Given the description of an element on the screen output the (x, y) to click on. 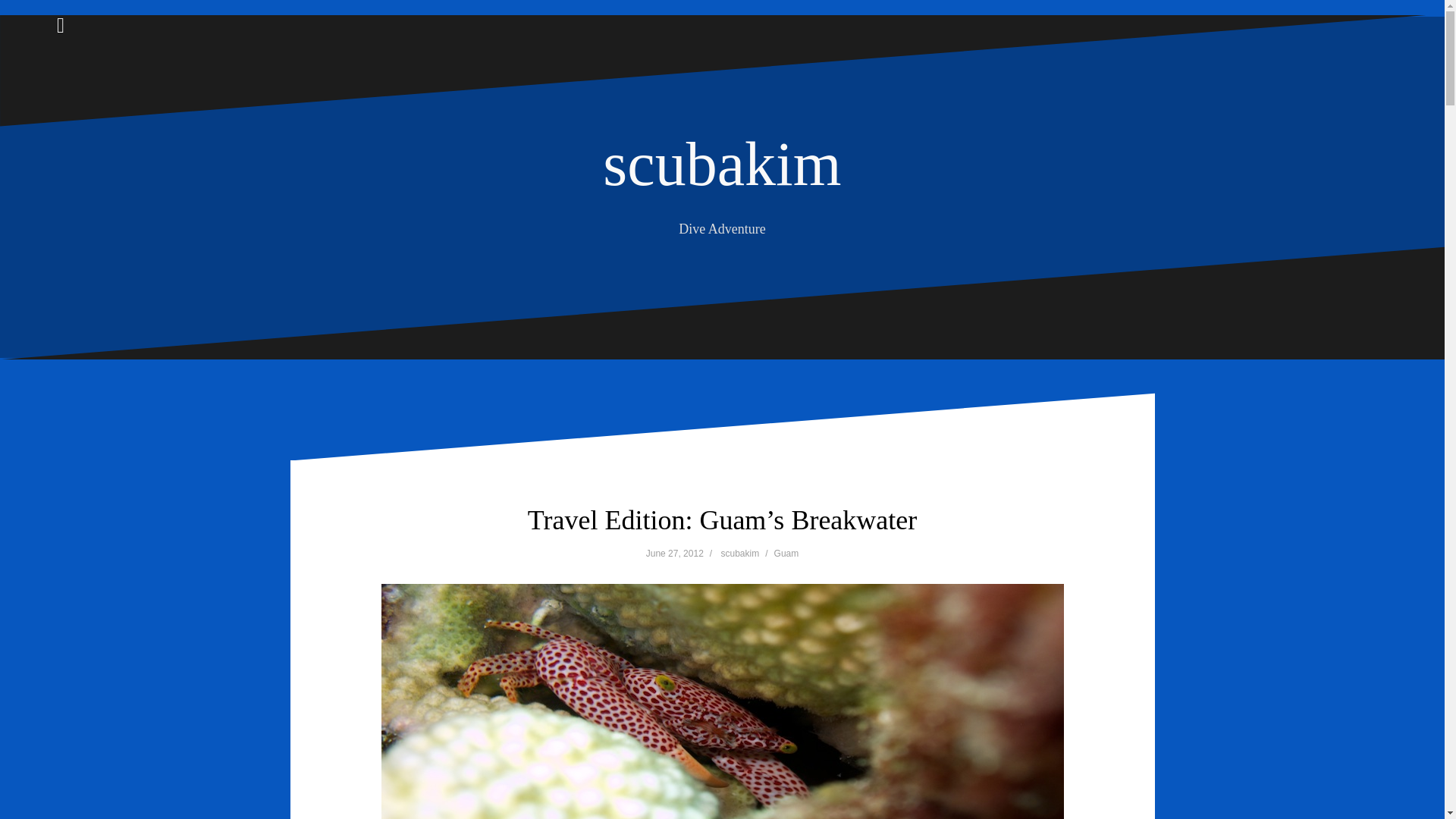
scubakim (721, 164)
June 27, 2012 (674, 552)
scubakim (740, 552)
Guam (786, 552)
